Given the description of an element on the screen output the (x, y) to click on. 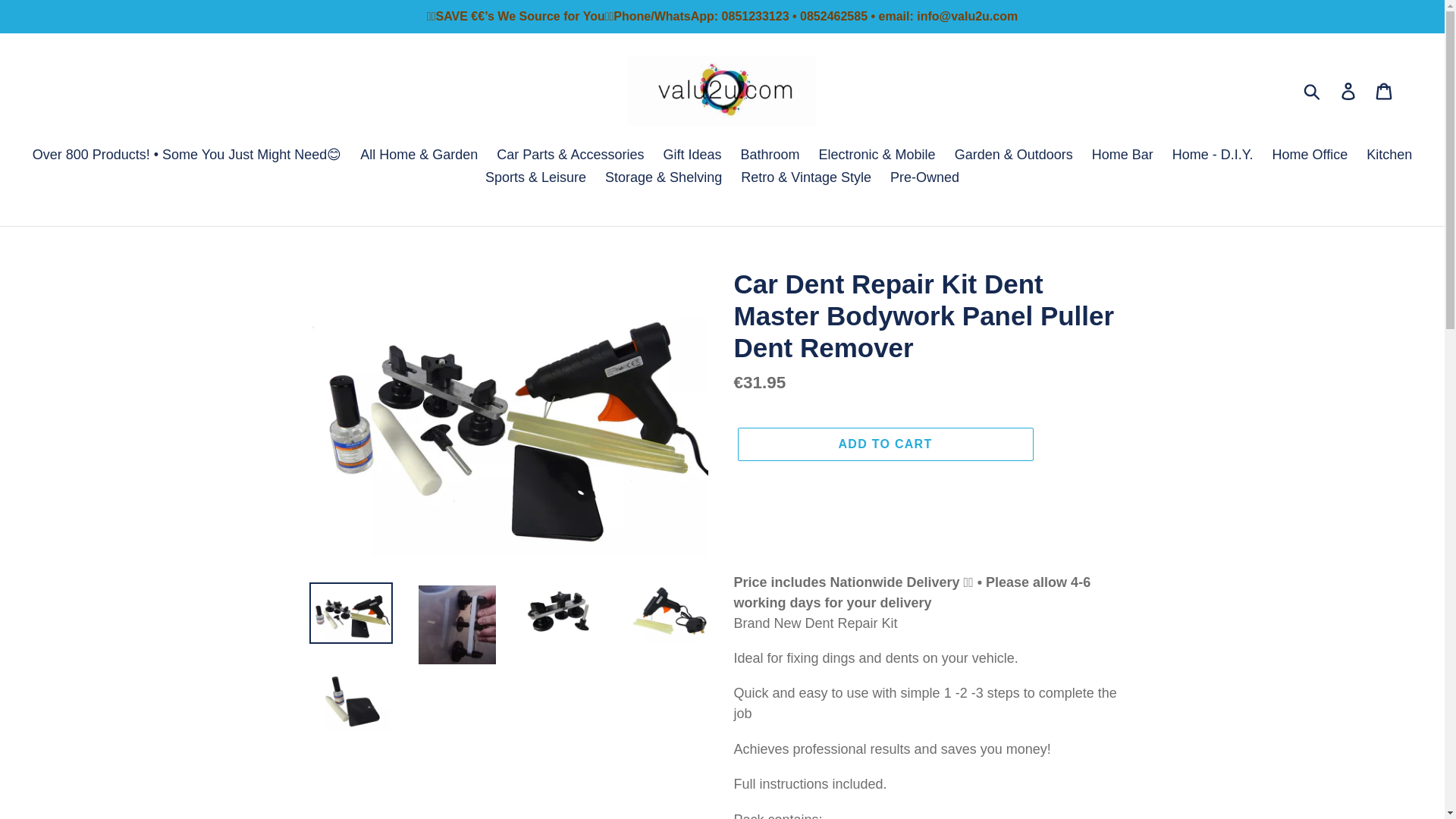
Submit (1313, 90)
Home Office (1310, 155)
Kitchen (1388, 155)
Gift Ideas (692, 155)
Log in (1349, 90)
Bathroom (769, 155)
Home - D.I.Y. (1212, 155)
Cart (1385, 90)
Home Bar (1122, 155)
